Given the description of an element on the screen output the (x, y) to click on. 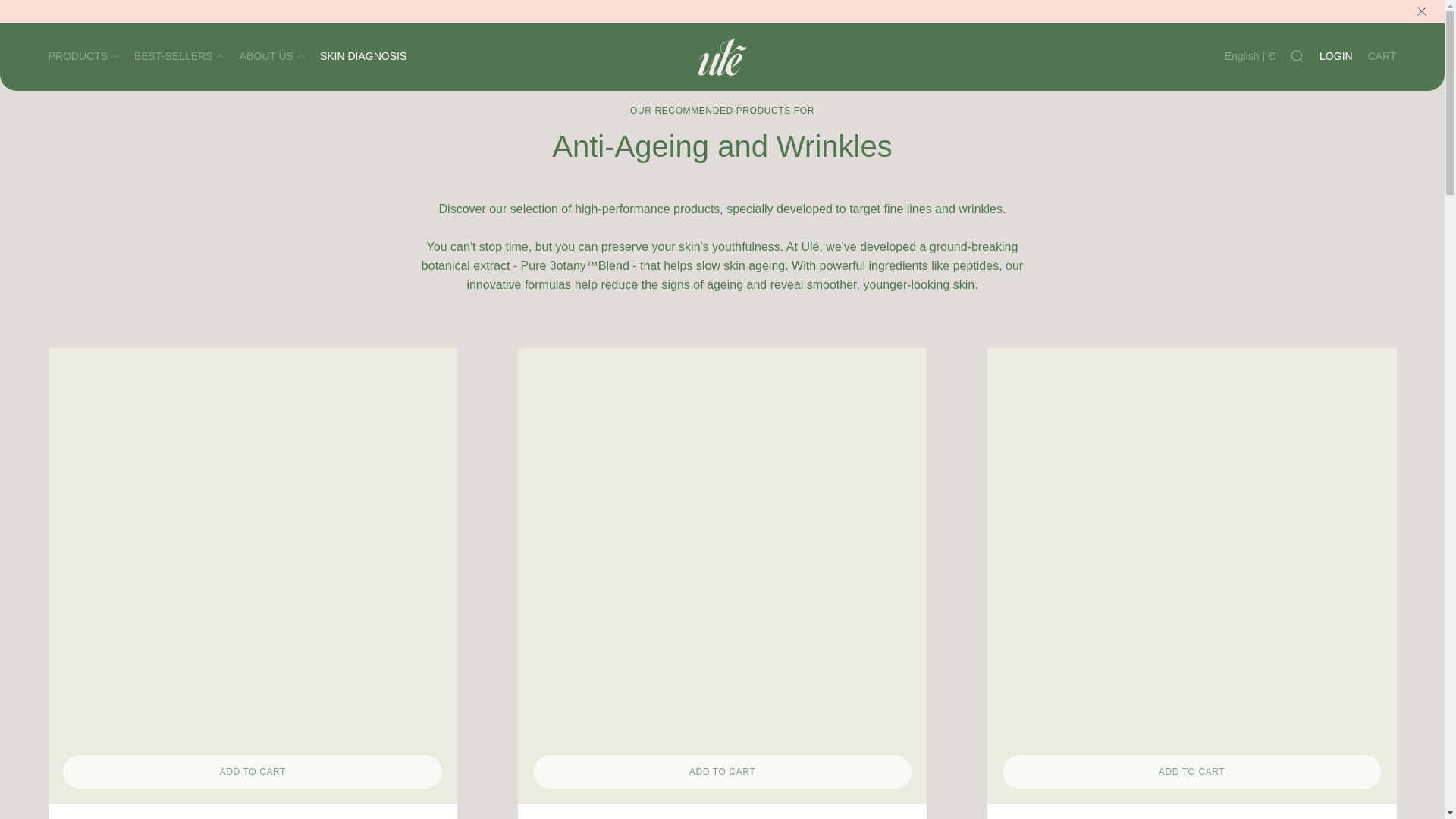
CART (1382, 58)
PRODUCTS (83, 58)
BEST-SELLERS (178, 58)
SKIN DIAGNOSIS (363, 58)
ABOUT US (272, 58)
ADD TO CART (253, 771)
LOGIN (1335, 58)
ADD TO CART (722, 771)
ADD TO CART (1192, 771)
